Given the description of an element on the screen output the (x, y) to click on. 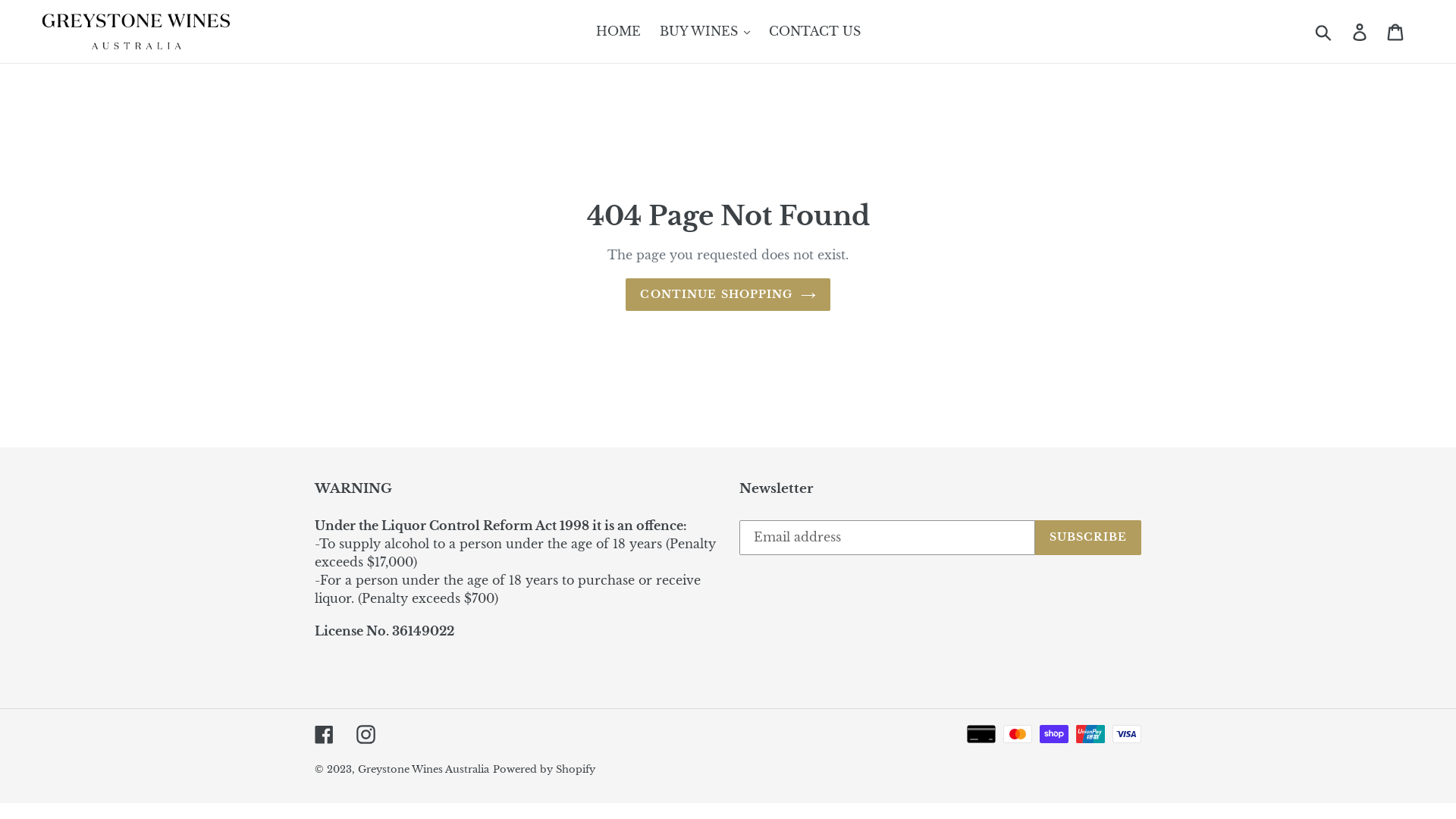
Submit Element type: text (1324, 30)
CONTACT US Element type: text (814, 30)
Instagram Element type: text (365, 733)
Greystone Wines Australia Element type: text (423, 768)
SUBSCRIBE Element type: text (1088, 536)
Powered by Shopify Element type: text (543, 768)
Facebook Element type: text (323, 733)
Cart Element type: text (1396, 31)
CONTINUE SHOPPING Element type: text (727, 294)
HOME Element type: text (618, 30)
Log in Element type: text (1360, 31)
